Given the description of an element on the screen output the (x, y) to click on. 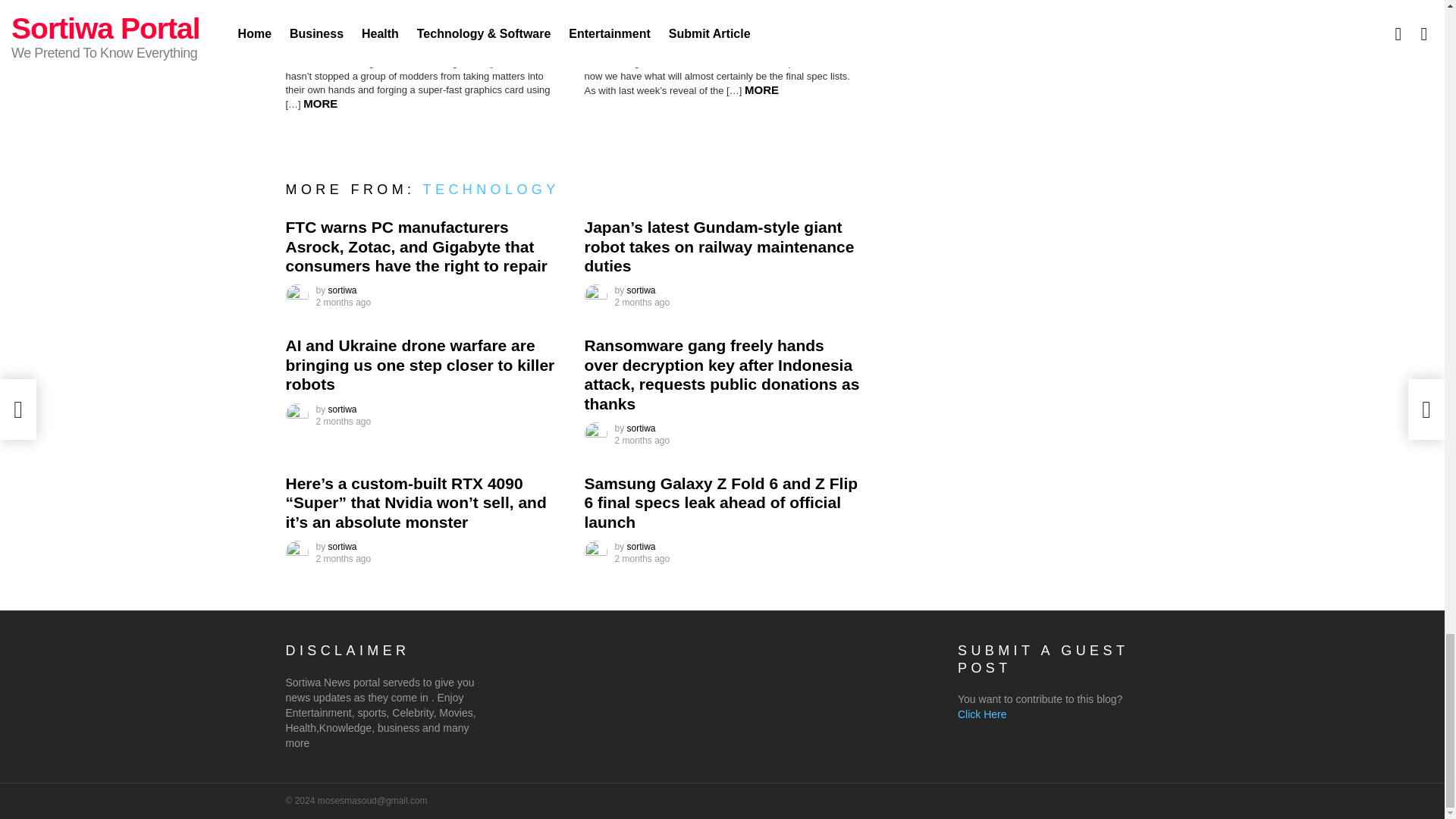
July 4, 2024, 8:41 pm (343, 558)
July 4, 2024, 9:43 pm (343, 421)
July 4, 2024, 8:10 pm (641, 558)
Posts by sortiwa (342, 546)
July 4, 2024, 10:45 pm (343, 302)
July 4, 2024, 10:14 pm (641, 302)
Posts by sortiwa (641, 290)
Posts by sortiwa (641, 428)
Posts by sortiwa (342, 409)
Posts by sortiwa (342, 290)
